Given the description of an element on the screen output the (x, y) to click on. 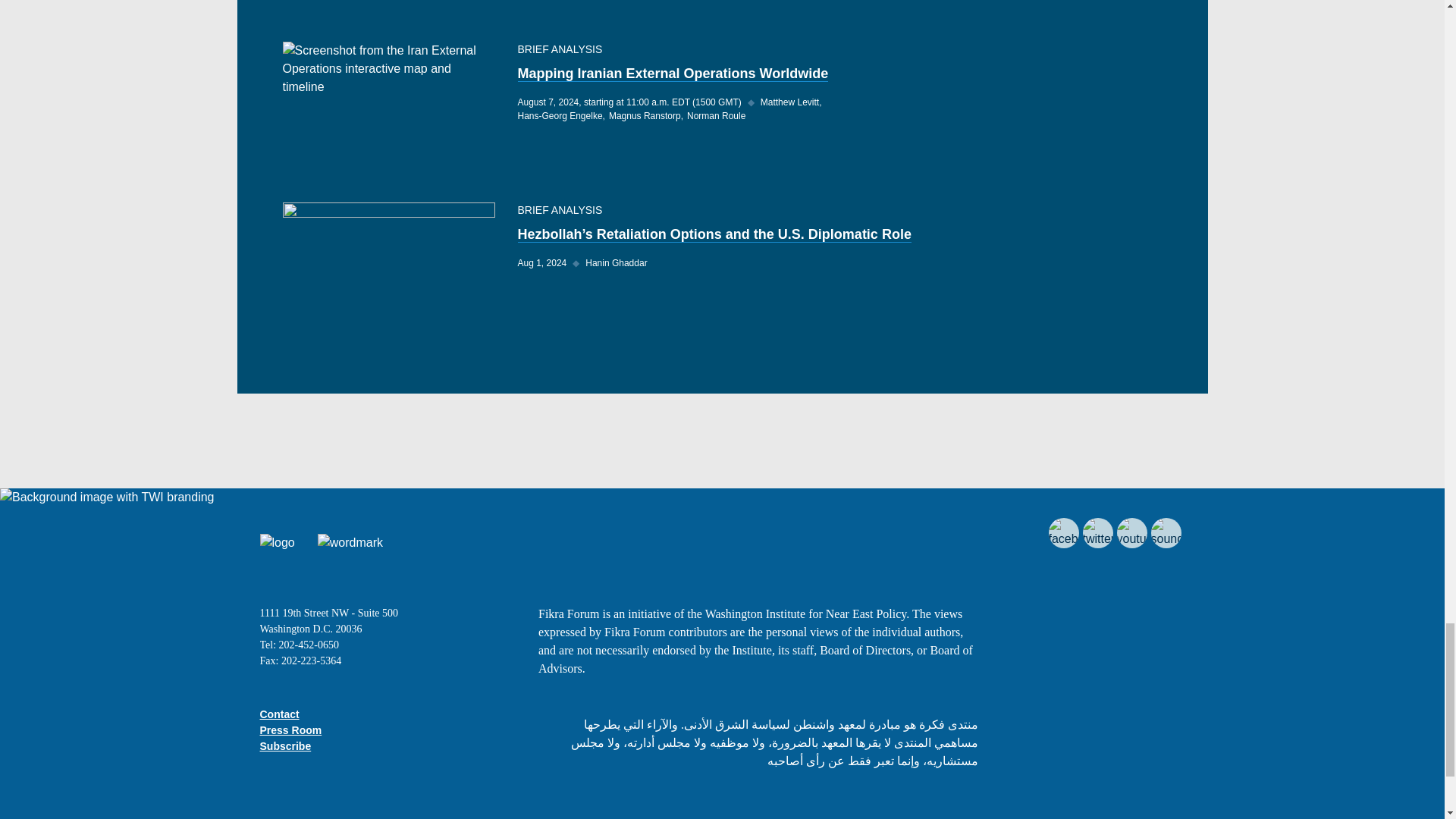
Sign up for email alerts of Institute publications (285, 746)
